Given the description of an element on the screen output the (x, y) to click on. 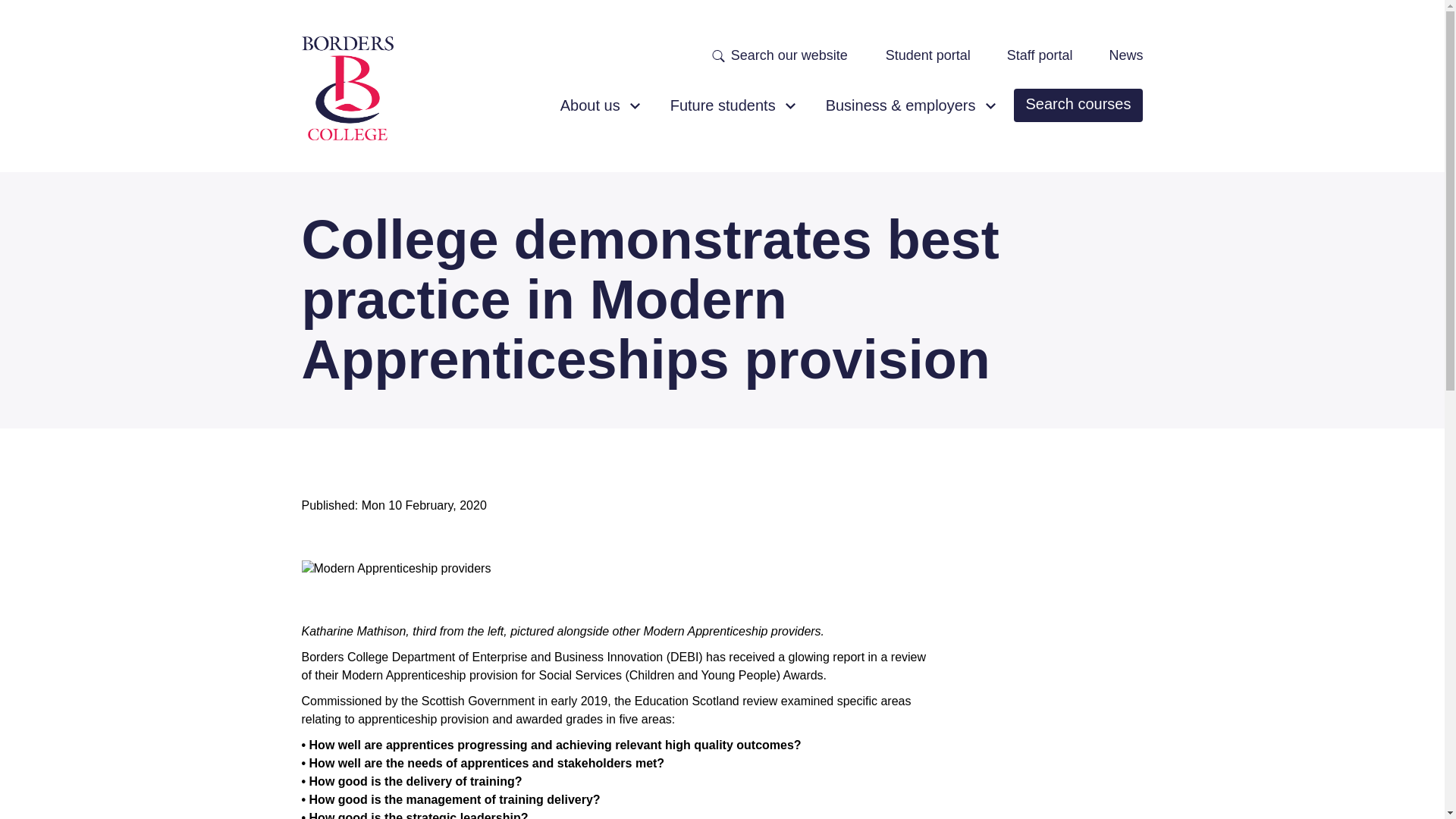
Student portal (928, 56)
Staff portal (1040, 56)
Enter the terms you wish to search for. (796, 55)
Search courses (1077, 105)
News (1125, 56)
